Given the description of an element on the screen output the (x, y) to click on. 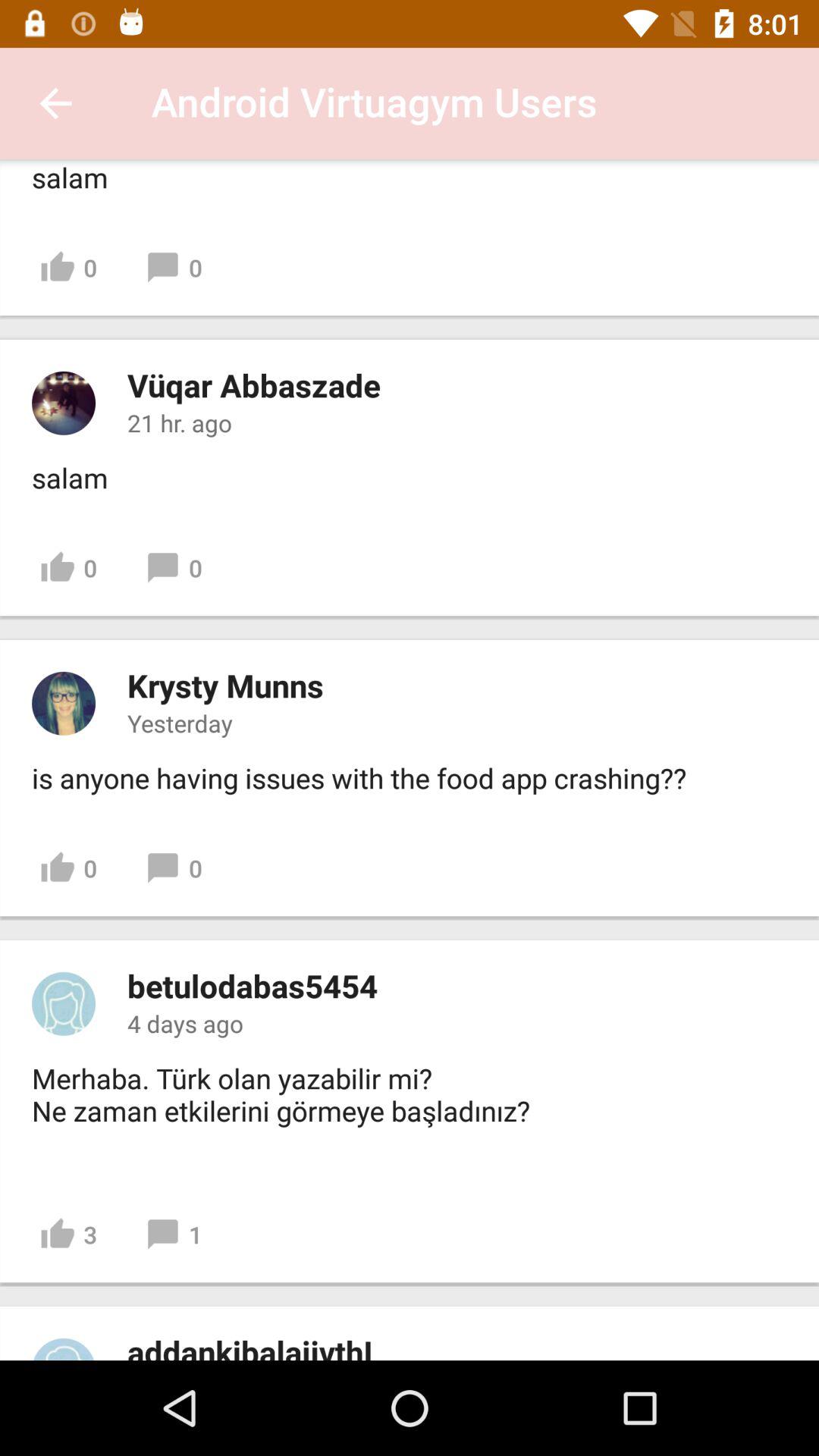
press icon next to 3 item (173, 1234)
